Given the description of an element on the screen output the (x, y) to click on. 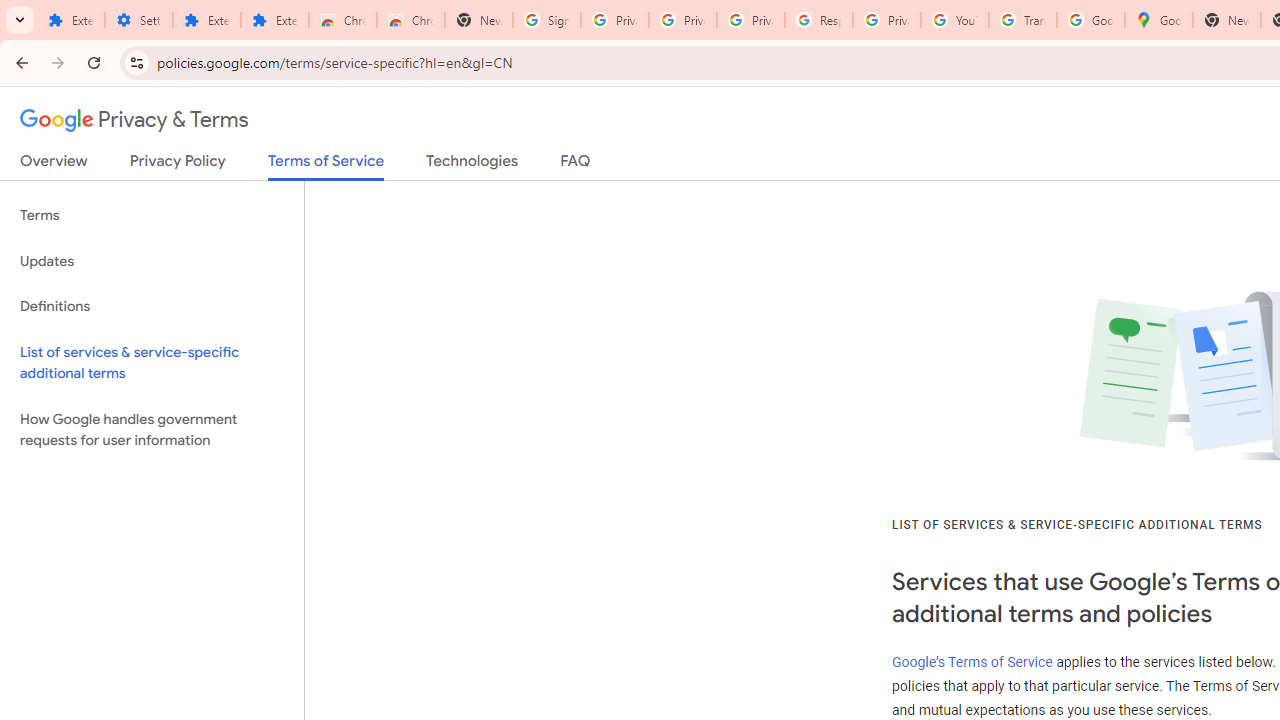
New Tab (1226, 20)
Chrome Web Store (342, 20)
Sign in - Google Accounts (547, 20)
Extensions (206, 20)
New Tab (479, 20)
